Given the description of an element on the screen output the (x, y) to click on. 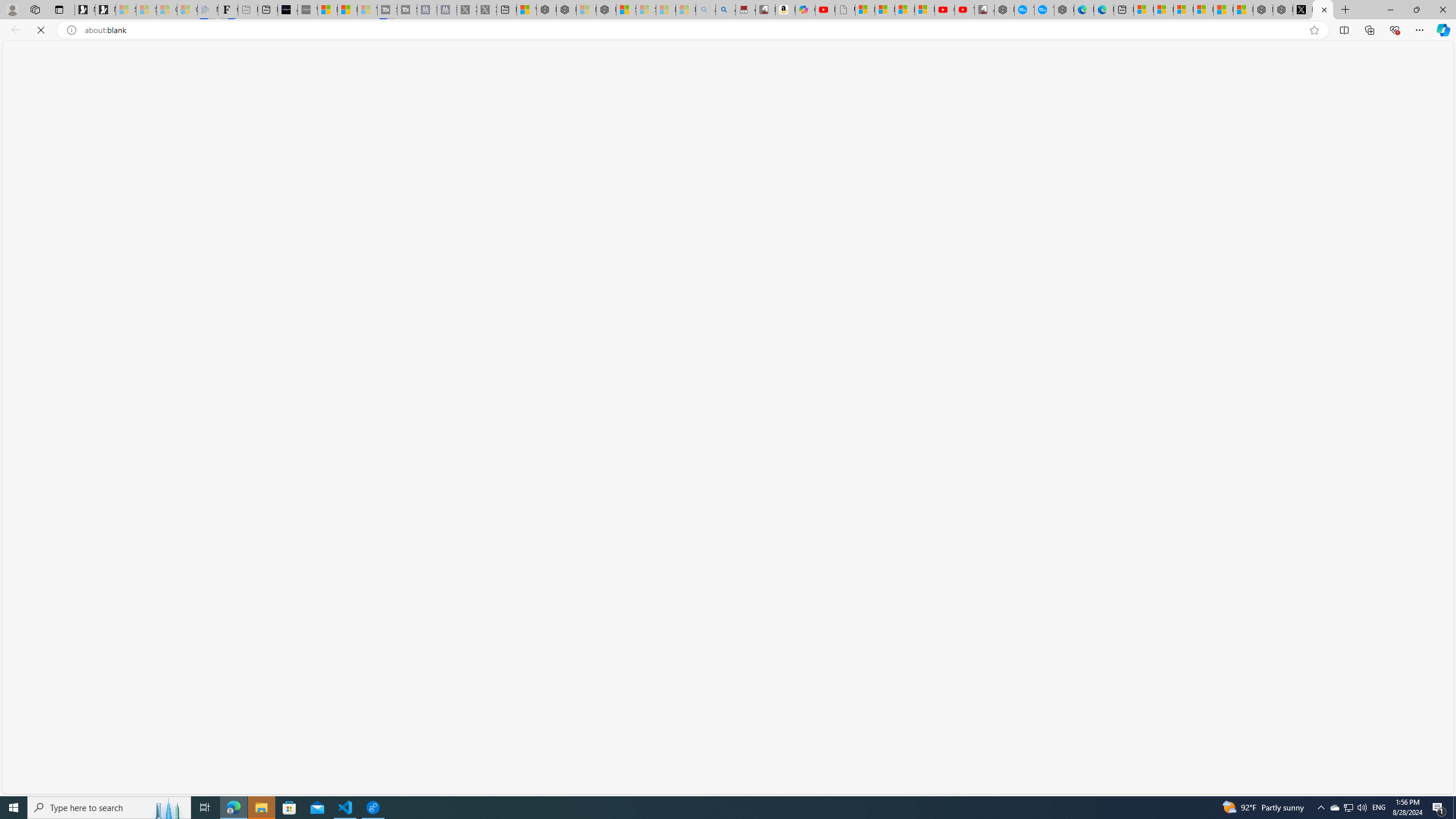
The most popular Google 'how to' searches (1043, 9)
Nordace - My Account (1004, 9)
